Given the description of an element on the screen output the (x, y) to click on. 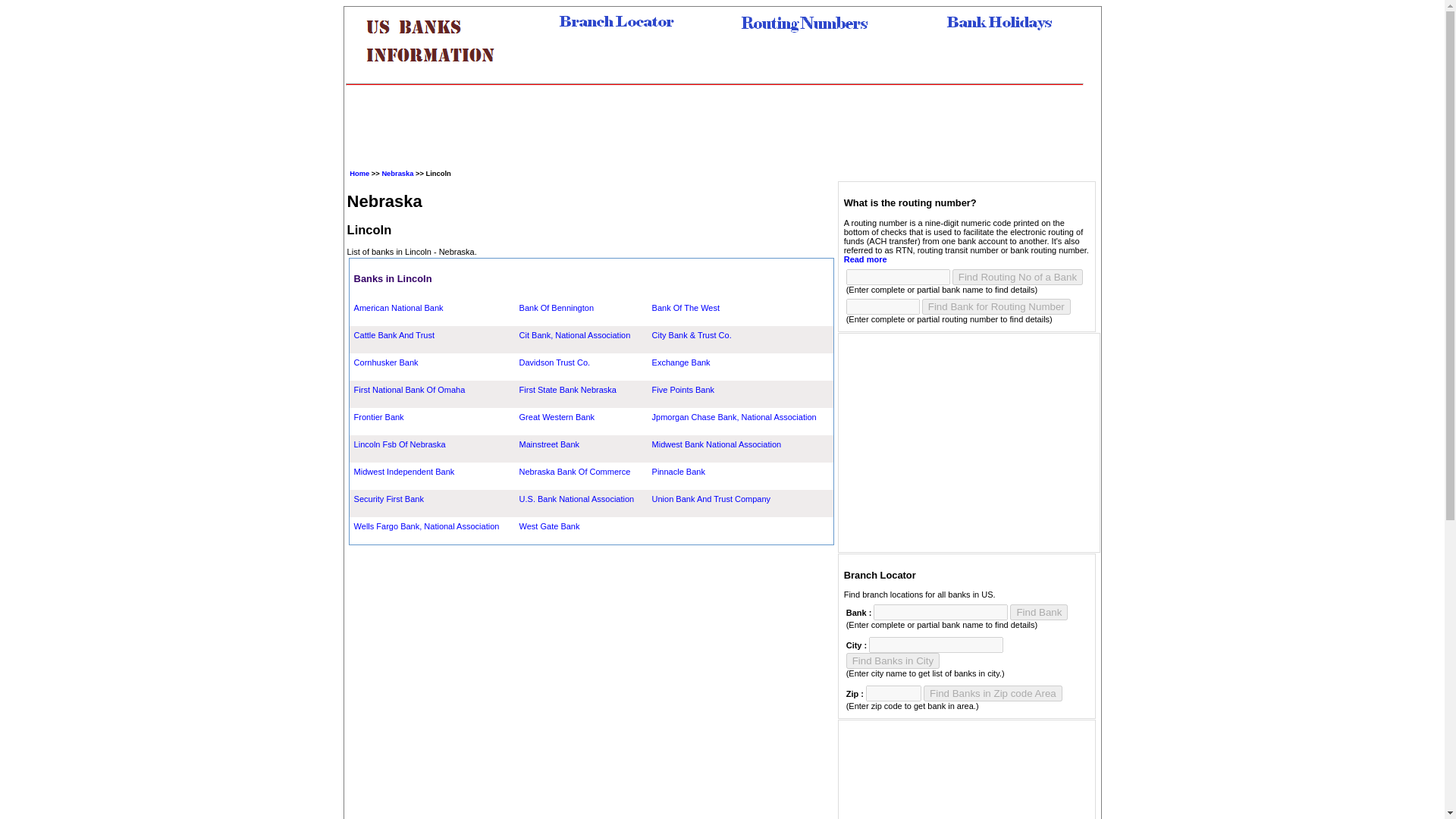
Advertisement (722, 133)
Pinnacle Bank (678, 470)
Midwest Independent Bank (403, 470)
Find Routing No of a Bank (1017, 277)
First National Bank Of Omaha (409, 388)
U.S. Bank National Association (576, 498)
Find Routing No of a Bank (1017, 277)
Nebraska Bank Of Commerce (574, 470)
Find Bank (1038, 611)
American National Bank (398, 307)
West Gate Bank (549, 525)
Find Bank for Routing Number (995, 306)
Find Banks in City (892, 660)
Nebraska (397, 173)
Lincoln Fsb Of Nebraska (399, 443)
